Given the description of an element on the screen output the (x, y) to click on. 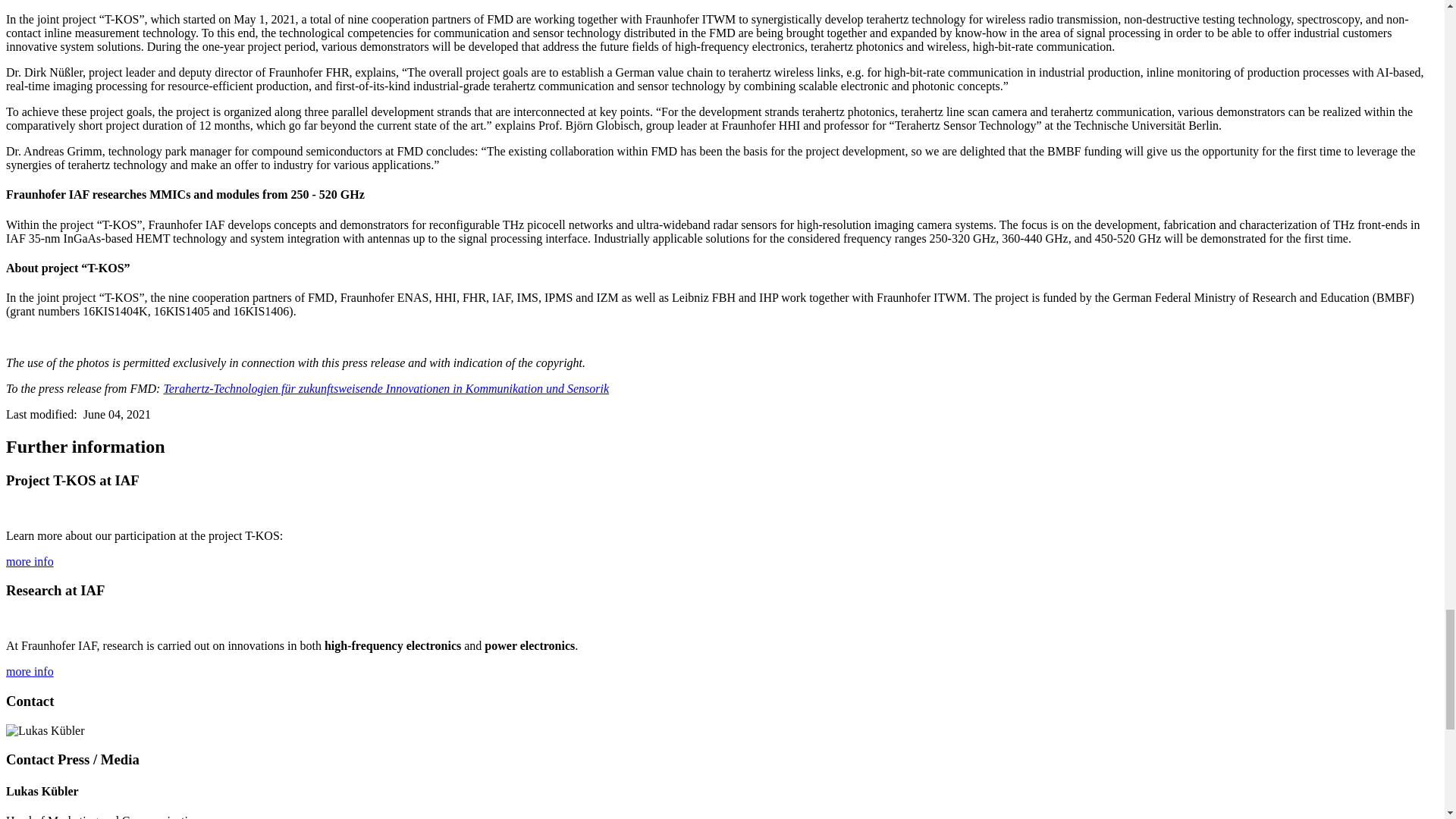
more info (29, 671)
more info (29, 561)
